Given the description of an element on the screen output the (x, y) to click on. 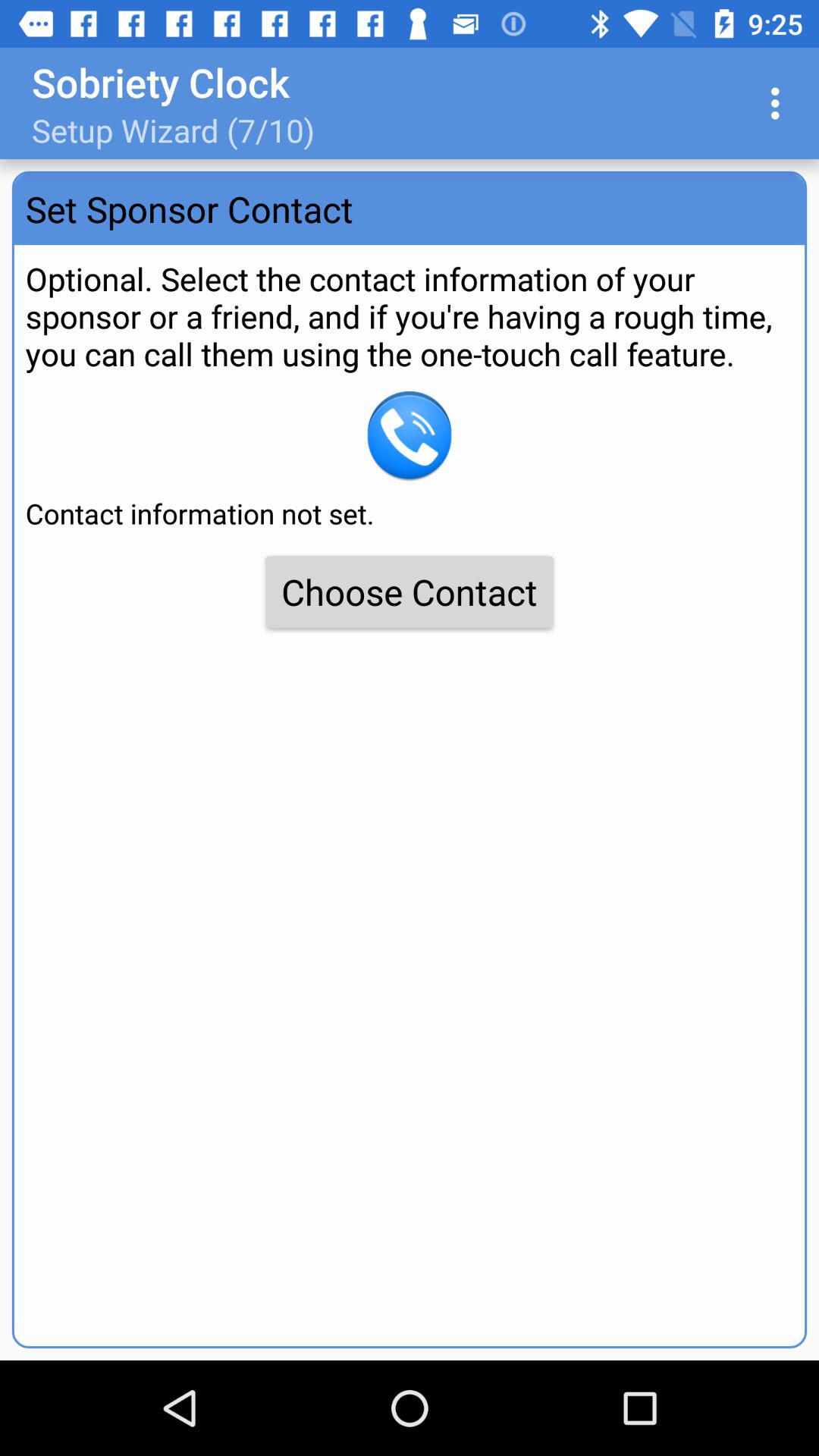
tap the icon next to setup wizard 7 item (779, 103)
